Given the description of an element on the screen output the (x, y) to click on. 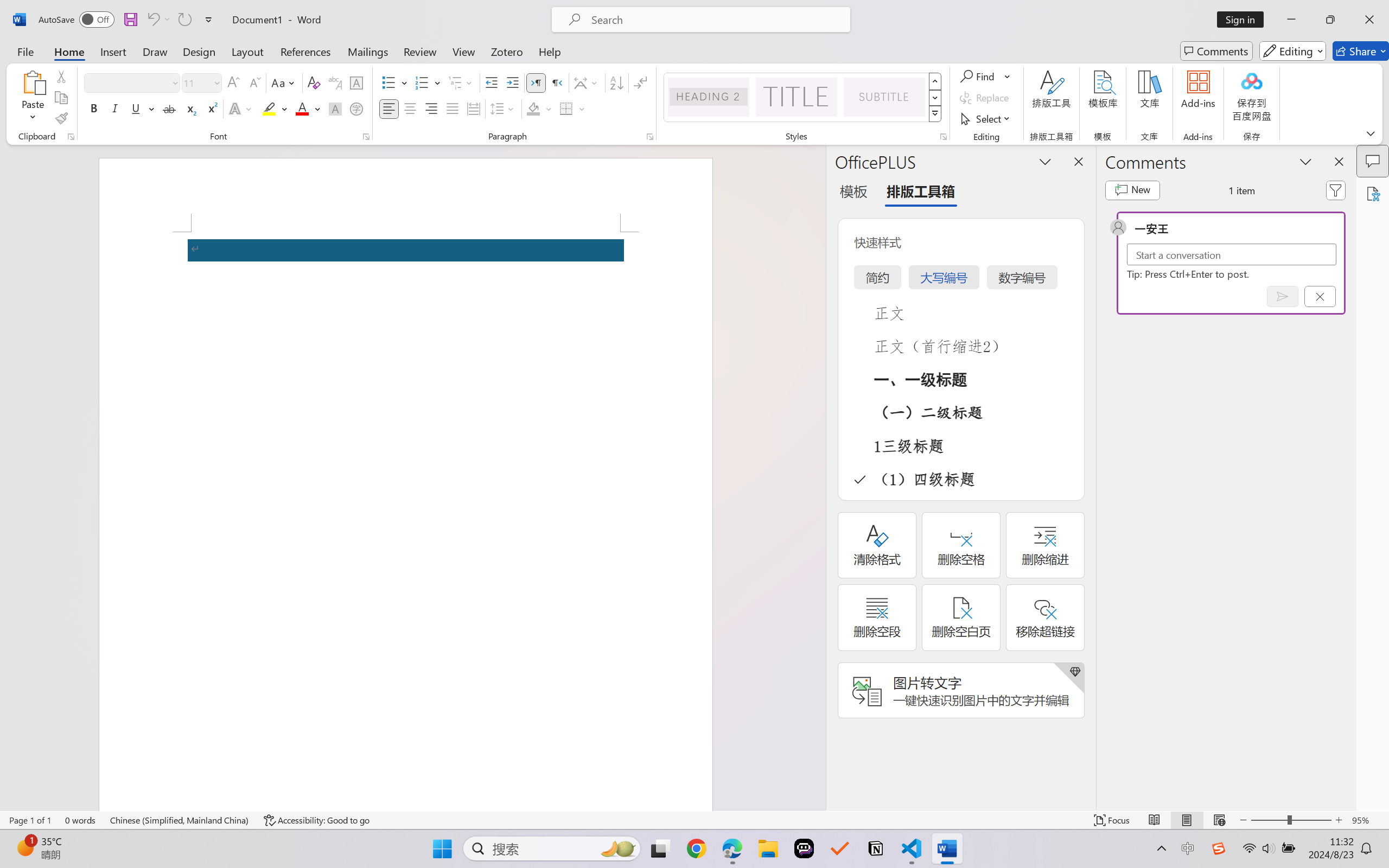
Accessibility Assistant (1373, 193)
